Given the description of an element on the screen output the (x, y) to click on. 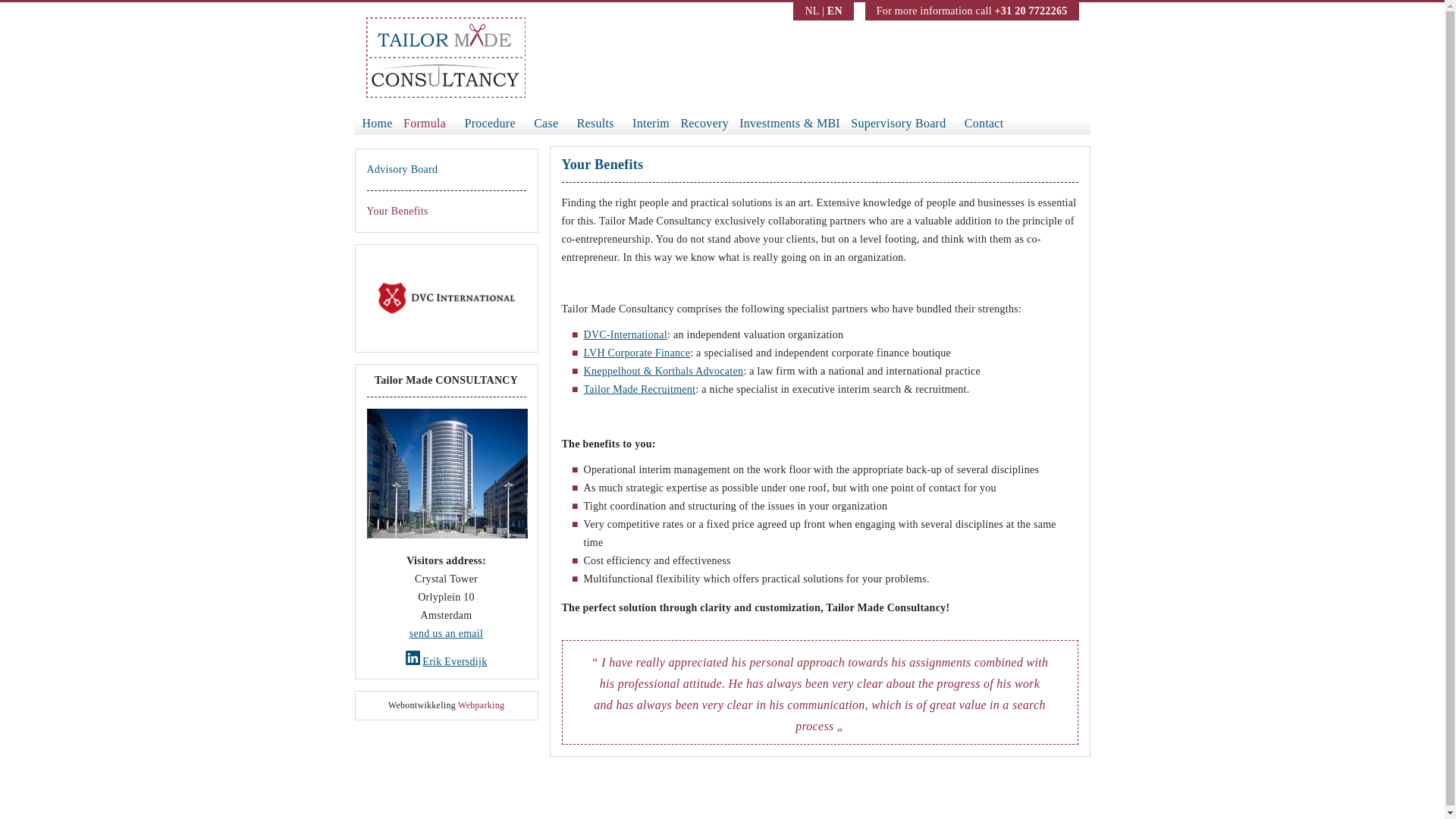
Procedure (489, 123)
Case (545, 123)
Tailor Made Recruitment (639, 389)
Interim (646, 123)
Your Benefits (397, 211)
DVC-International (625, 334)
EN (835, 10)
Procedure (489, 123)
NL (811, 10)
send us an email (446, 633)
